Given the description of an element on the screen output the (x, y) to click on. 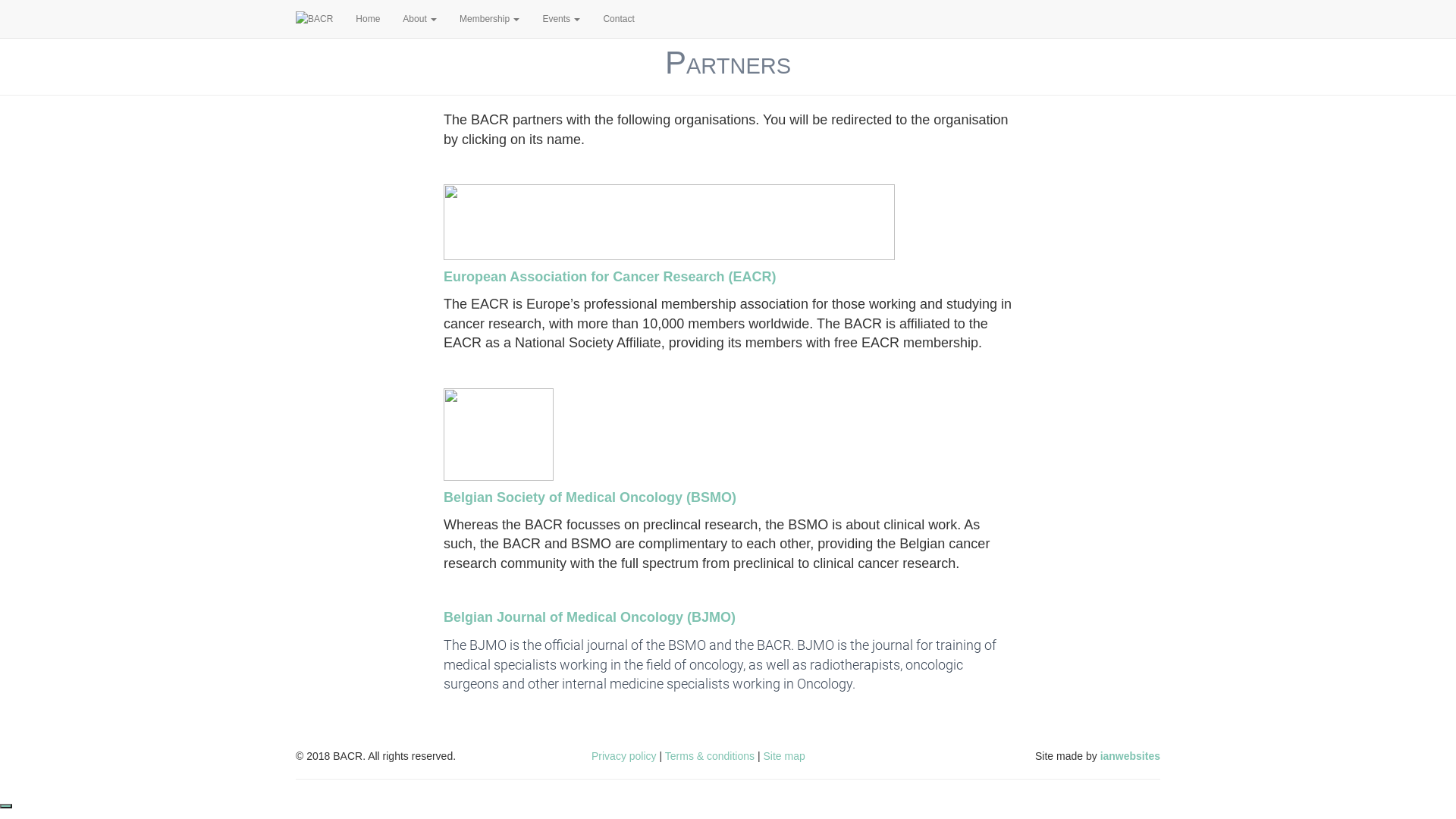
Events Element type: text (560, 18)
Membership Element type: text (489, 18)
BACR Element type: hover (314, 18)
ianwebsites Element type: text (1130, 755)
Belgian Journal of Medical Oncology (BJMO) Element type: text (589, 616)
Privacy policy Element type: text (623, 755)
Terms & conditions Element type: text (709, 755)
European Association for Cancer Research (EACR) Element type: text (609, 276)
Belgian Society of Medical Oncology (BSMO) Element type: text (589, 497)
About Element type: text (419, 18)
Contact Element type: text (618, 18)
Home Element type: text (367, 18)
Site map Element type: text (783, 755)
